Given the description of an element on the screen output the (x, y) to click on. 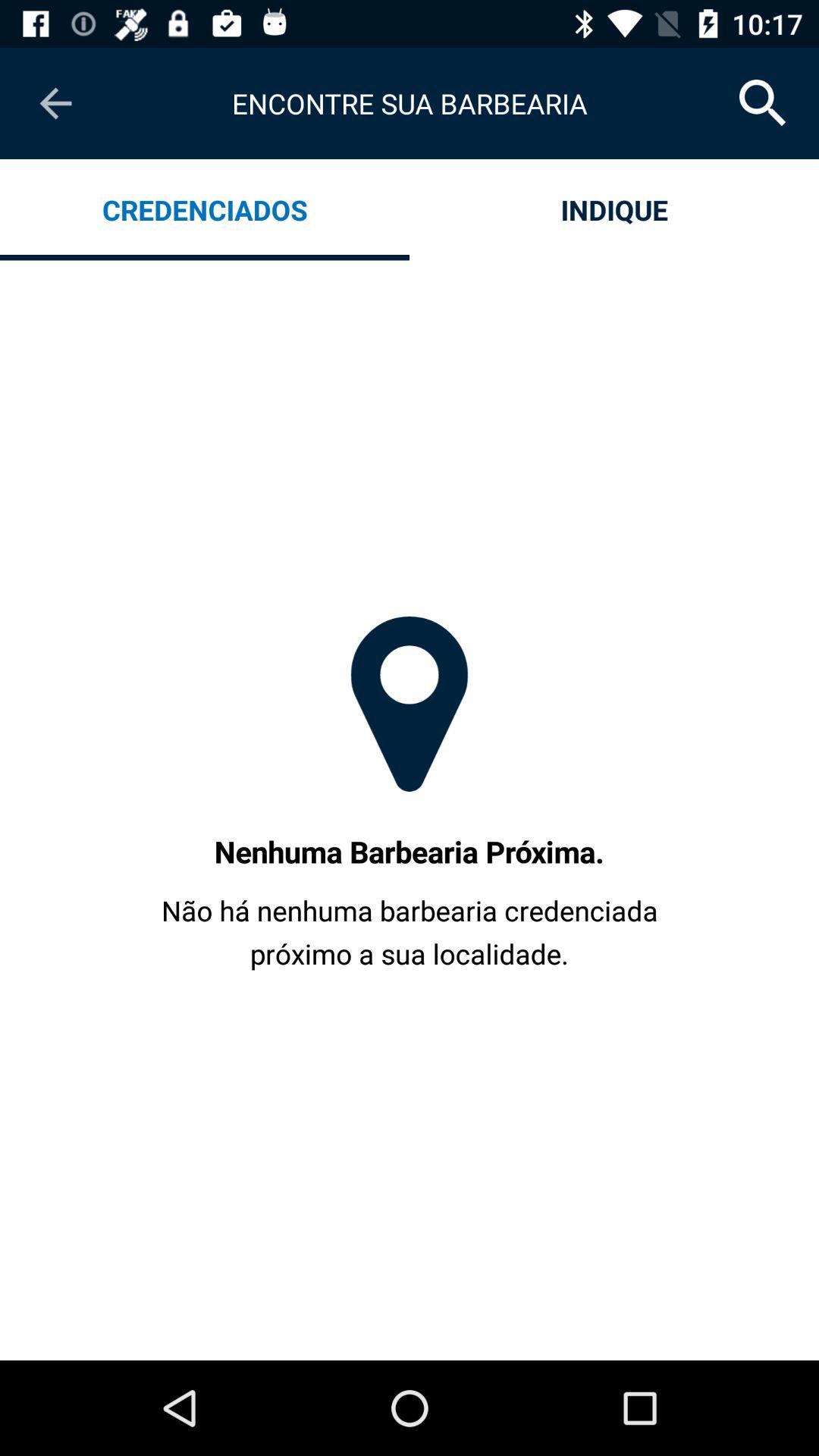
turn on item to the right of the encontre sua barbearia item (763, 103)
